Given the description of an element on the screen output the (x, y) to click on. 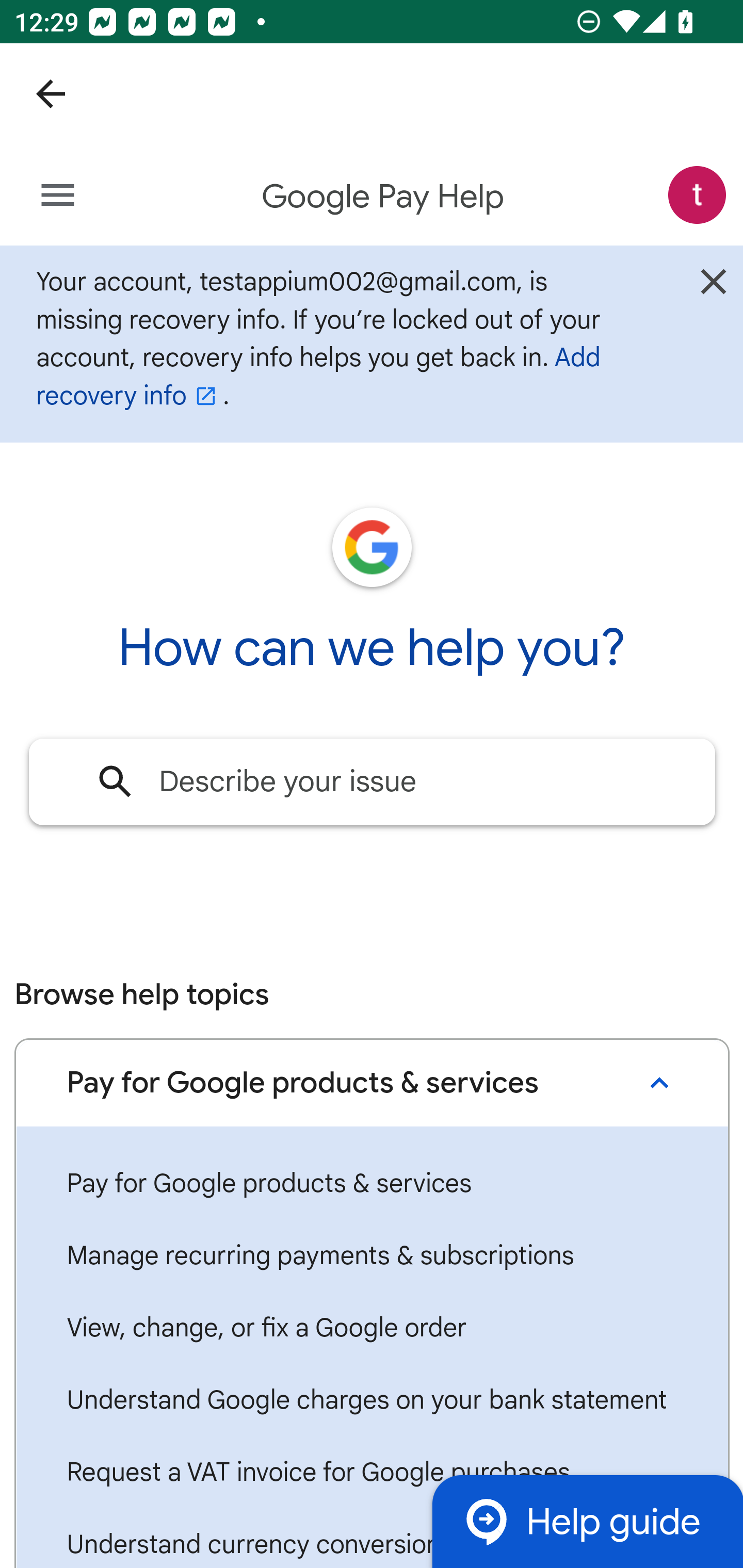
Navigate up (50, 93)
Main menu (58, 195)
Google Pay Help (383, 197)
Close (713, 286)
Add recovery info (318, 376)
Search (116, 781)
Pay for Google products & services (371, 1183)
Manage recurring payments & subscriptions (371, 1255)
View, change, or fix a Google order (371, 1328)
Understand Google charges on your bank statement (371, 1400)
Request a VAT invoice for Google purchases (371, 1472)
Help guide (587, 1520)
